Given the description of an element on the screen output the (x, y) to click on. 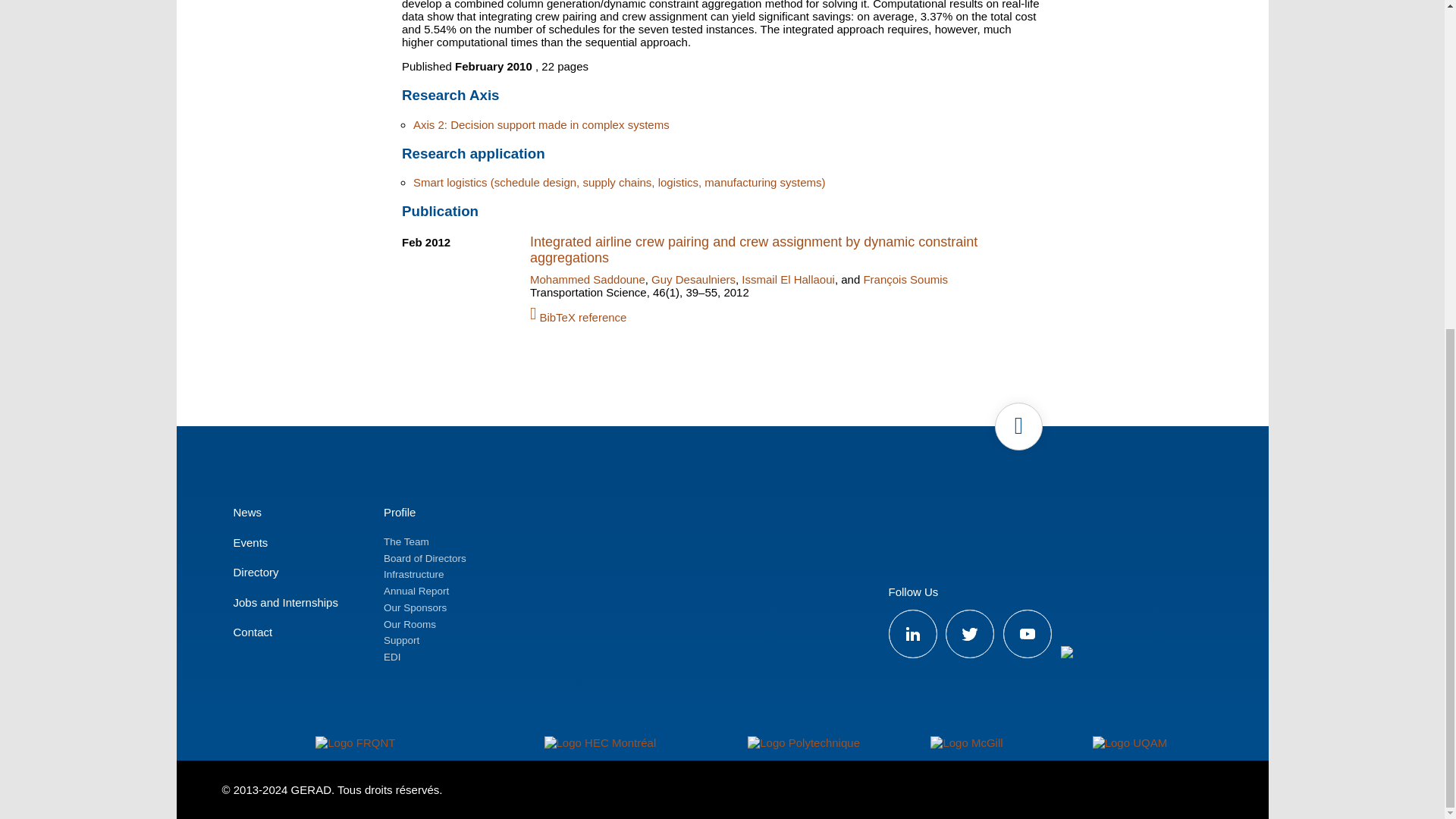
Axis 2: Decision support made in complex systems (541, 124)
Download the BibTeX file (774, 313)
Mohammed Saddoune (587, 278)
